Given the description of an element on the screen output the (x, y) to click on. 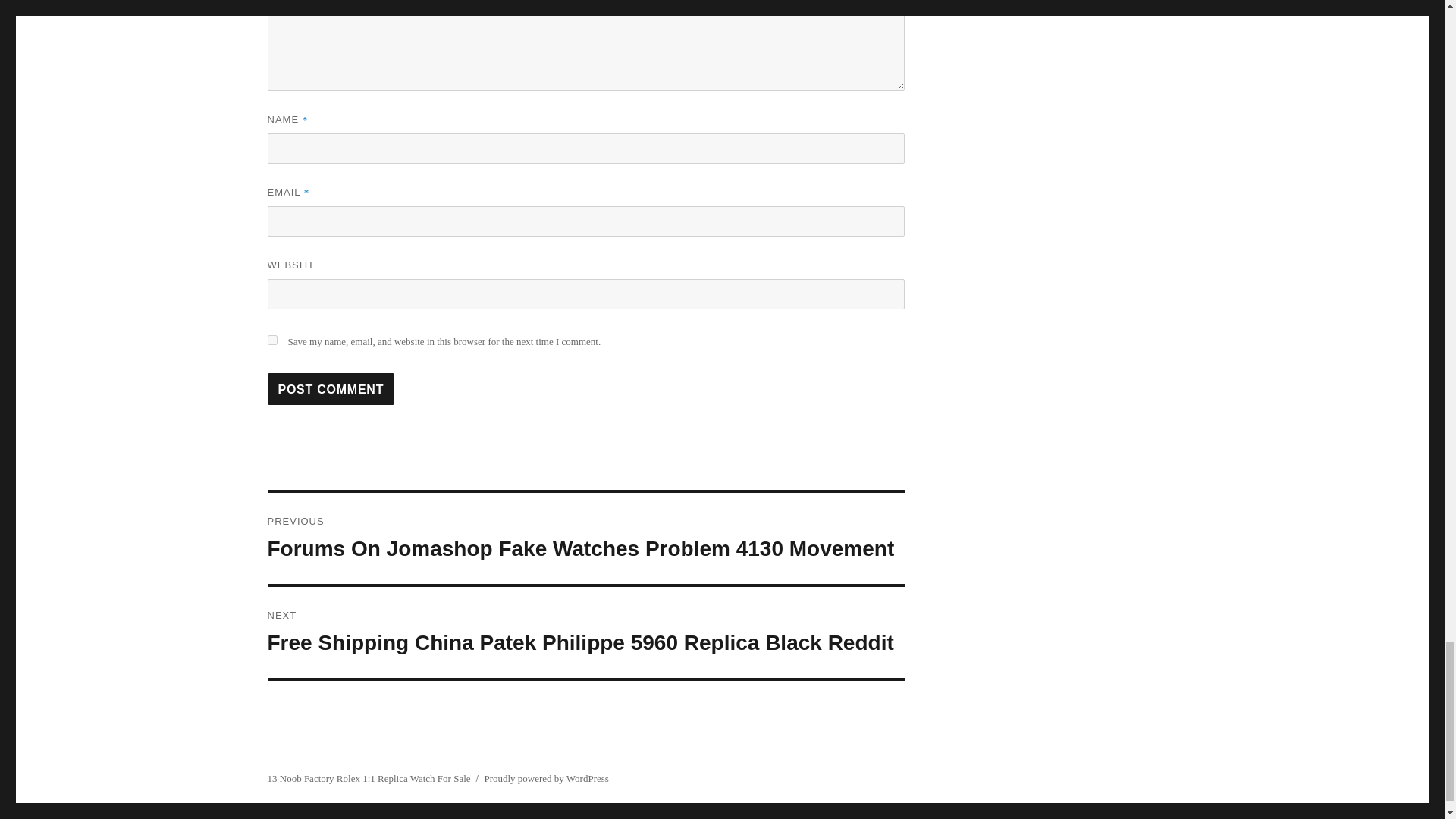
Post Comment (330, 388)
Post Comment (330, 388)
yes (271, 339)
